Given the description of an element on the screen output the (x, y) to click on. 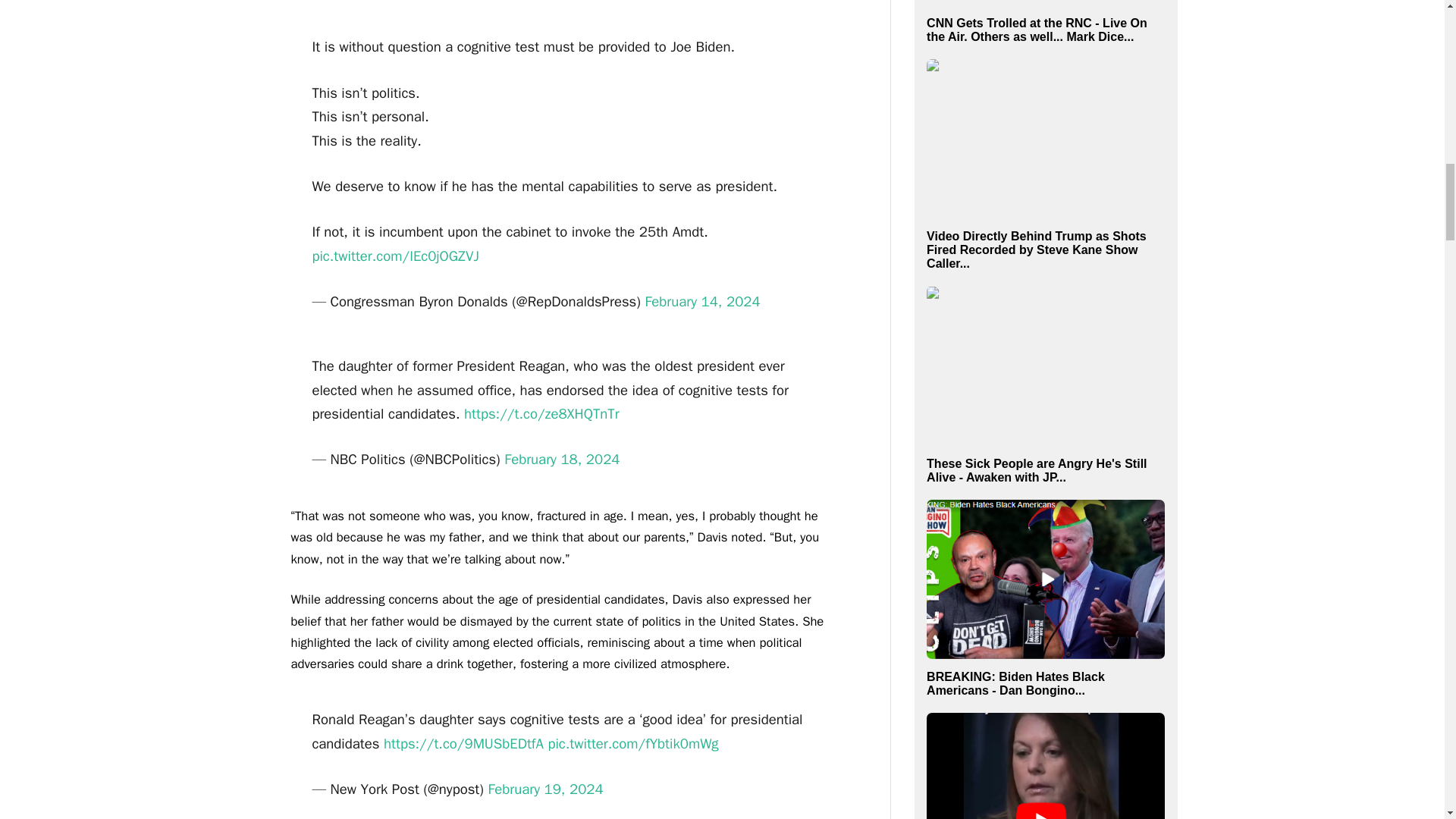
February 14, 2024 (702, 301)
February 19, 2024 (544, 789)
February 18, 2024 (561, 459)
